Given the description of an element on the screen output the (x, y) to click on. 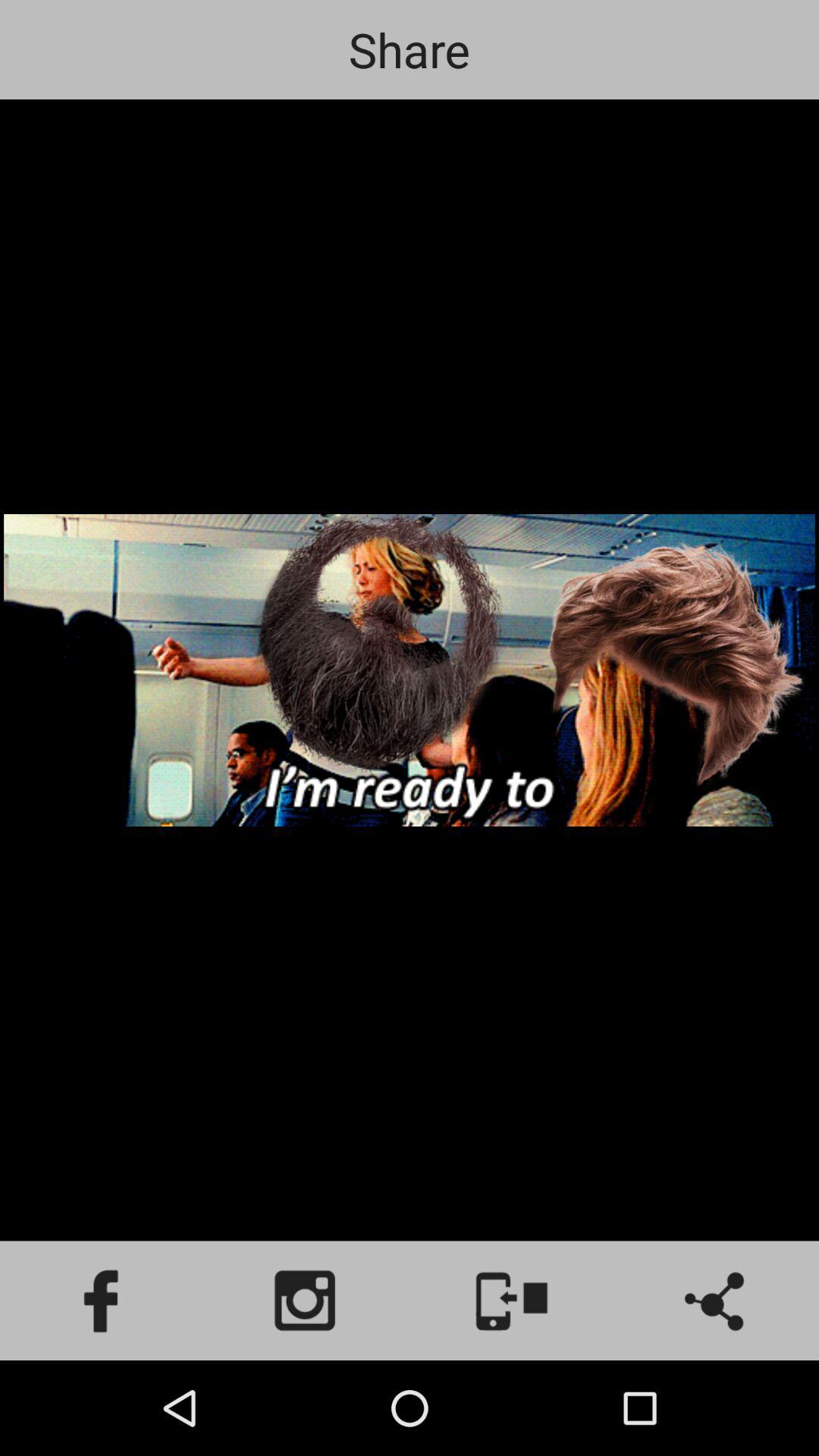
download a image (511, 1300)
